Given the description of an element on the screen output the (x, y) to click on. 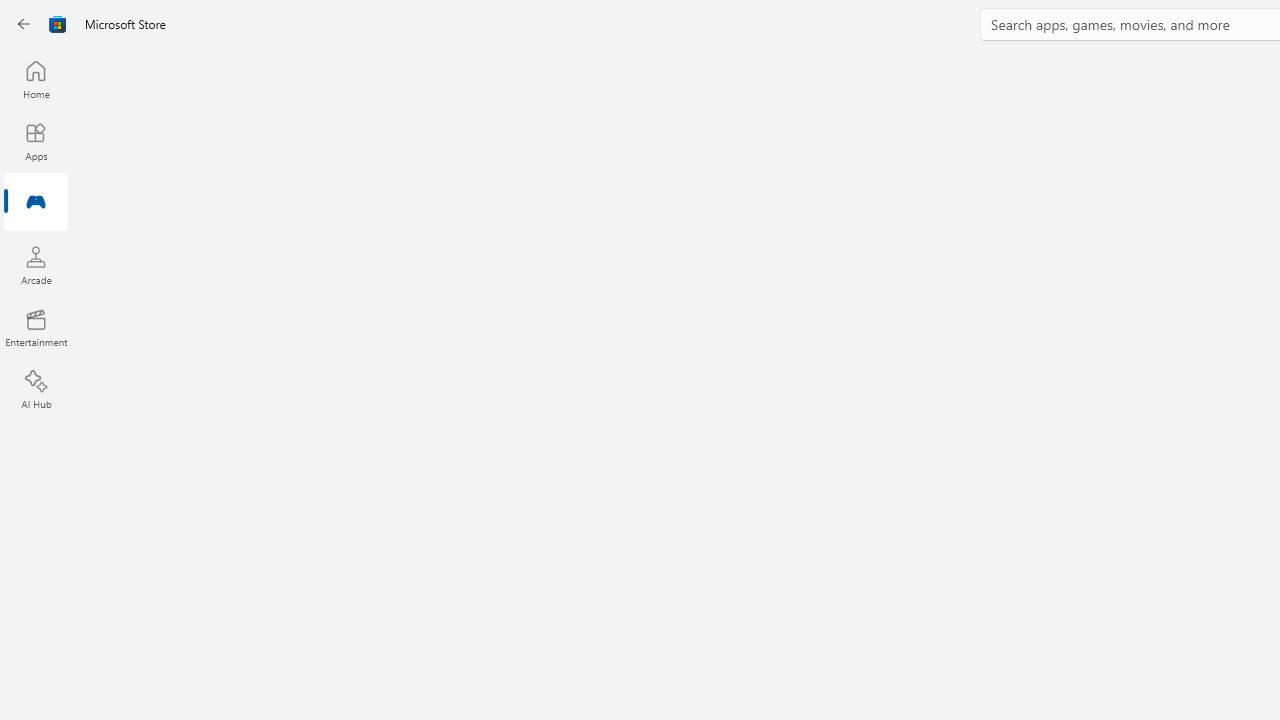
Back (24, 24)
